Given the description of an element on the screen output the (x, y) to click on. 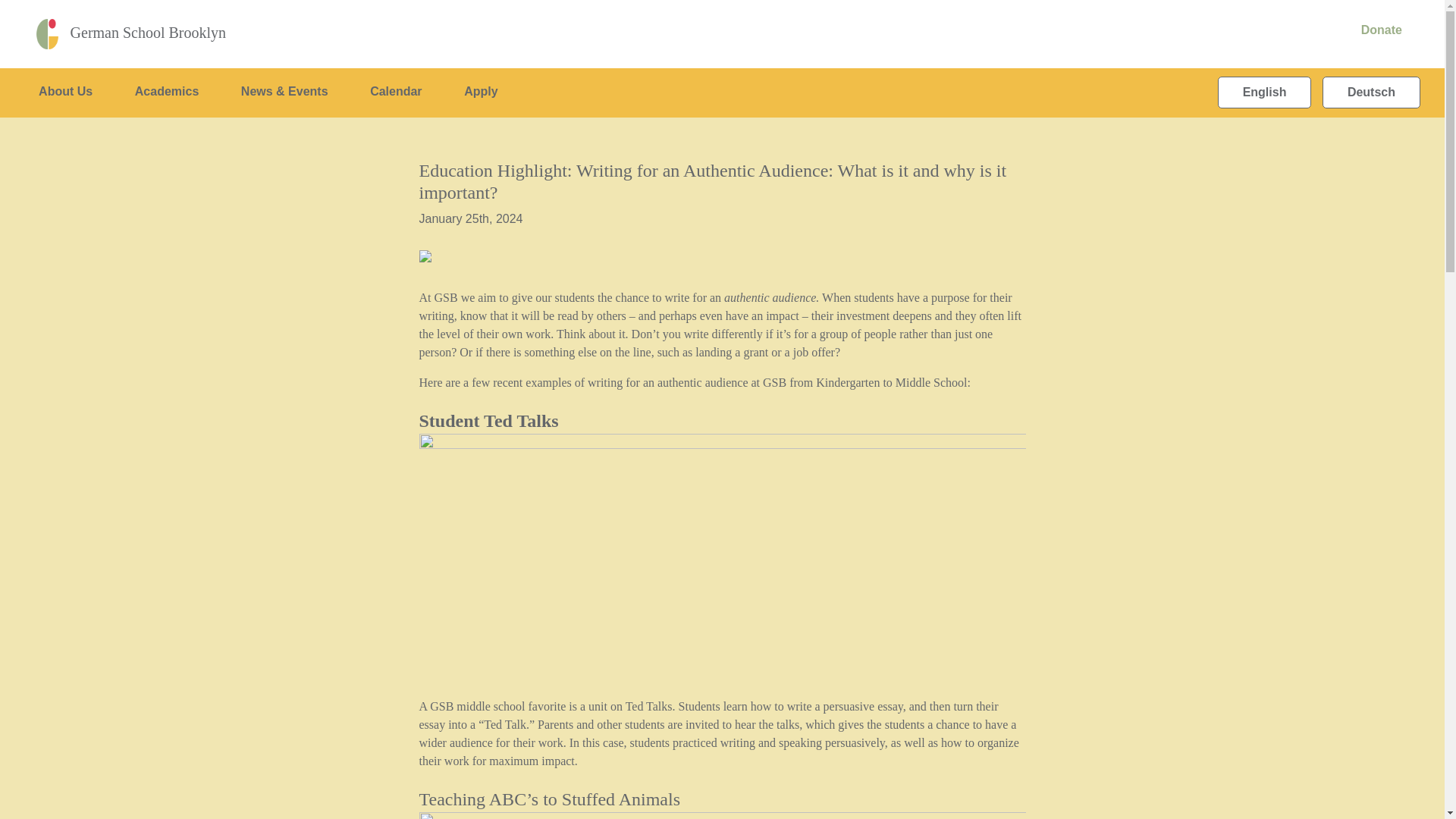
German School Brooklyn (130, 32)
Apply (474, 91)
English (1265, 91)
Donate (1373, 30)
About Us (57, 91)
Deutsch (1371, 91)
Calendar (388, 91)
Academics (159, 91)
Donate (1373, 30)
